Given the description of an element on the screen output the (x, y) to click on. 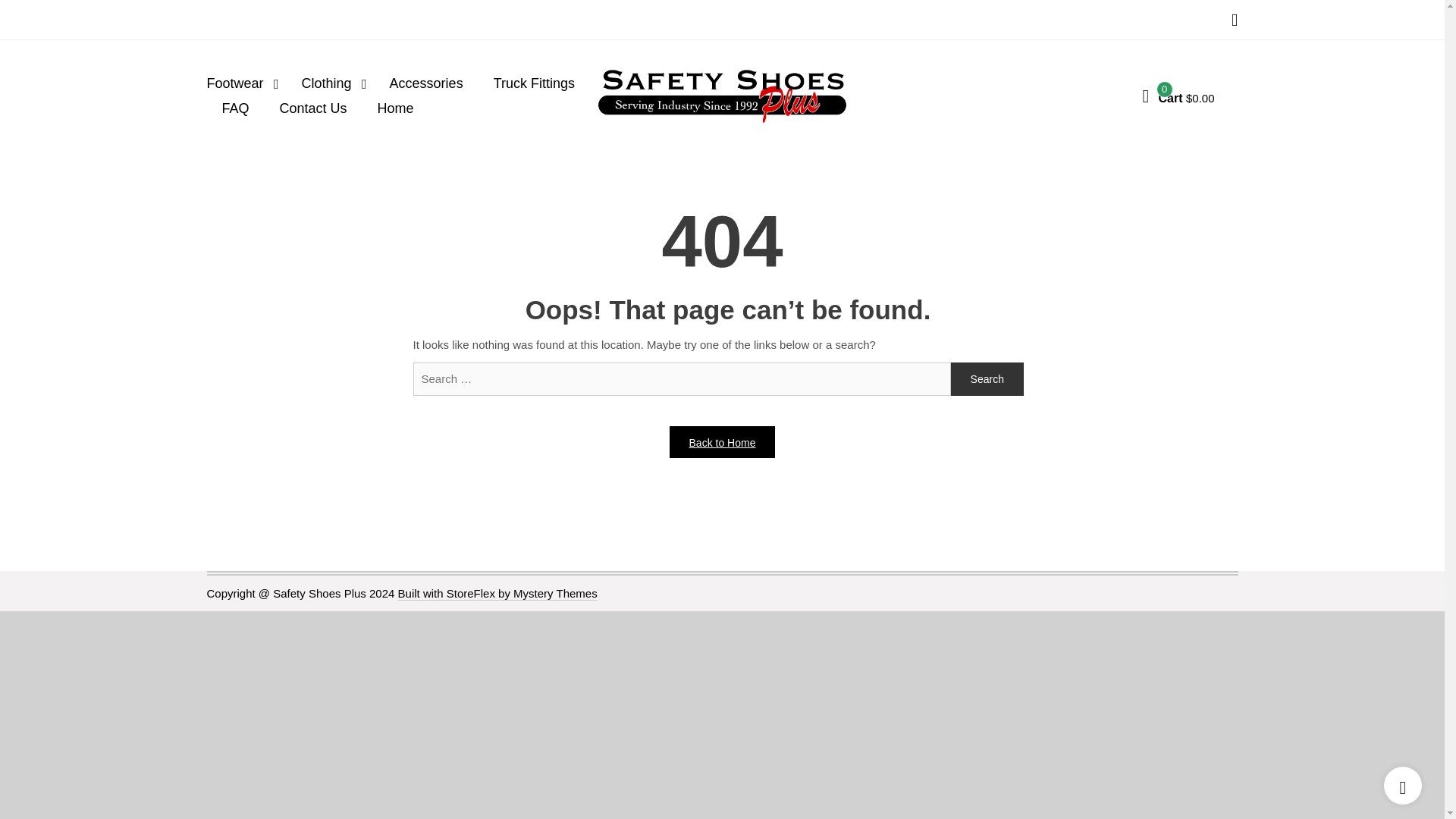
View your shopping cart (1178, 95)
Search (986, 378)
Truck Fittings (534, 83)
Back to Home (722, 441)
Footwear (245, 83)
Home (395, 108)
Contact Us (313, 108)
Built with StoreFlex by Mystery Themes (496, 593)
Accessories (426, 83)
Search (986, 378)
Search (986, 378)
FAQ (234, 108)
Clothing (330, 83)
